Given the description of an element on the screen output the (x, y) to click on. 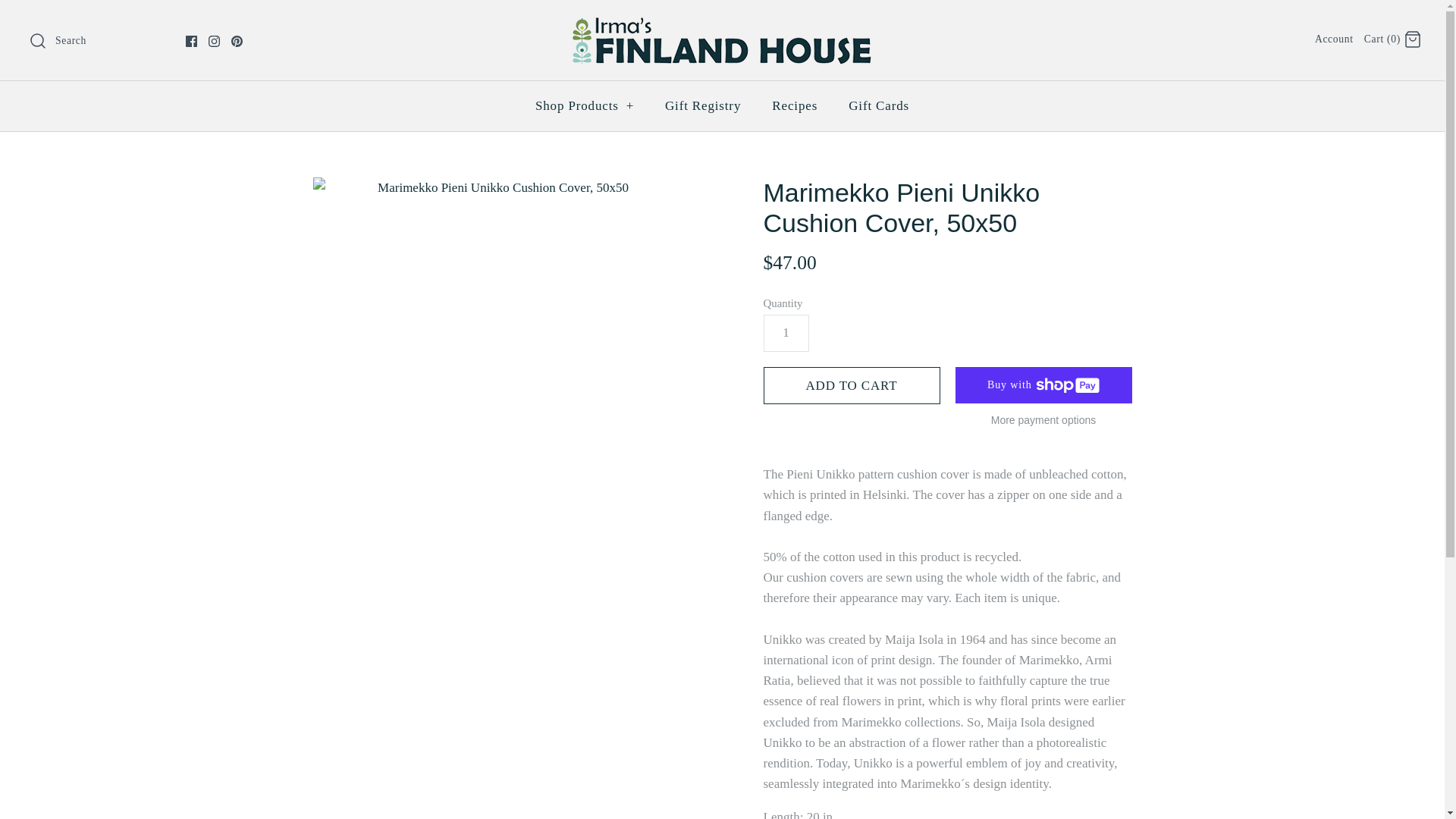
Pinterest (237, 41)
Add to Cart (850, 385)
Account (1334, 39)
Facebook (191, 41)
Irma's Finland House (721, 25)
Instagram (213, 41)
Instagram (213, 41)
Facebook (191, 41)
Facebook (191, 41)
Cart (1412, 39)
Pinterest (237, 41)
1 (785, 332)
Pinterest (237, 41)
Instagram (213, 41)
